Given the description of an element on the screen output the (x, y) to click on. 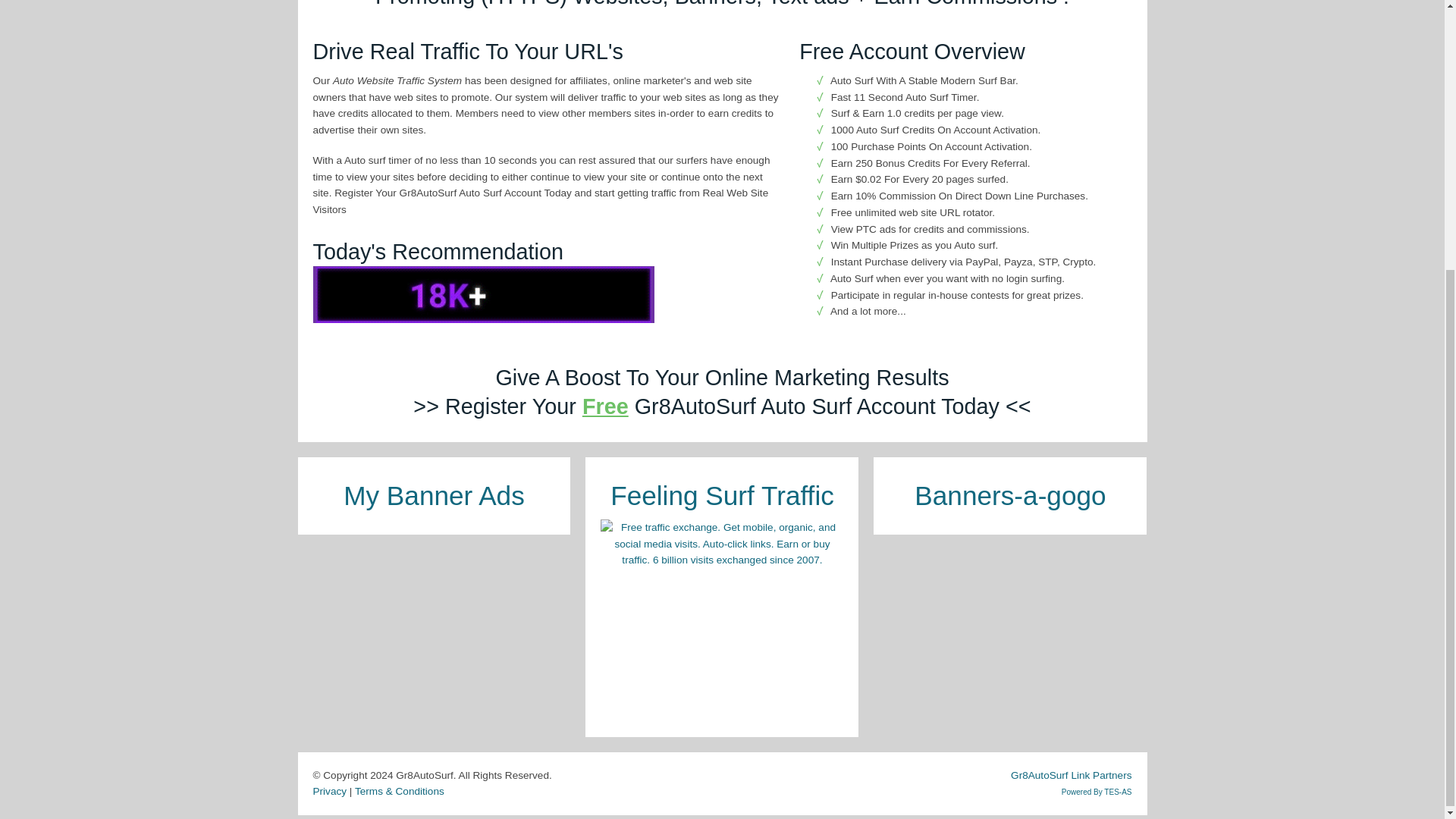
My Banner Ads (433, 495)
Privacy (329, 790)
Gr8AutoSurf Link Partners (1070, 775)
Powered By TES-AS (1096, 791)
Feeling Surf Traffic (722, 495)
Banners-a-gogo (1009, 495)
